Given the description of an element on the screen output the (x, y) to click on. 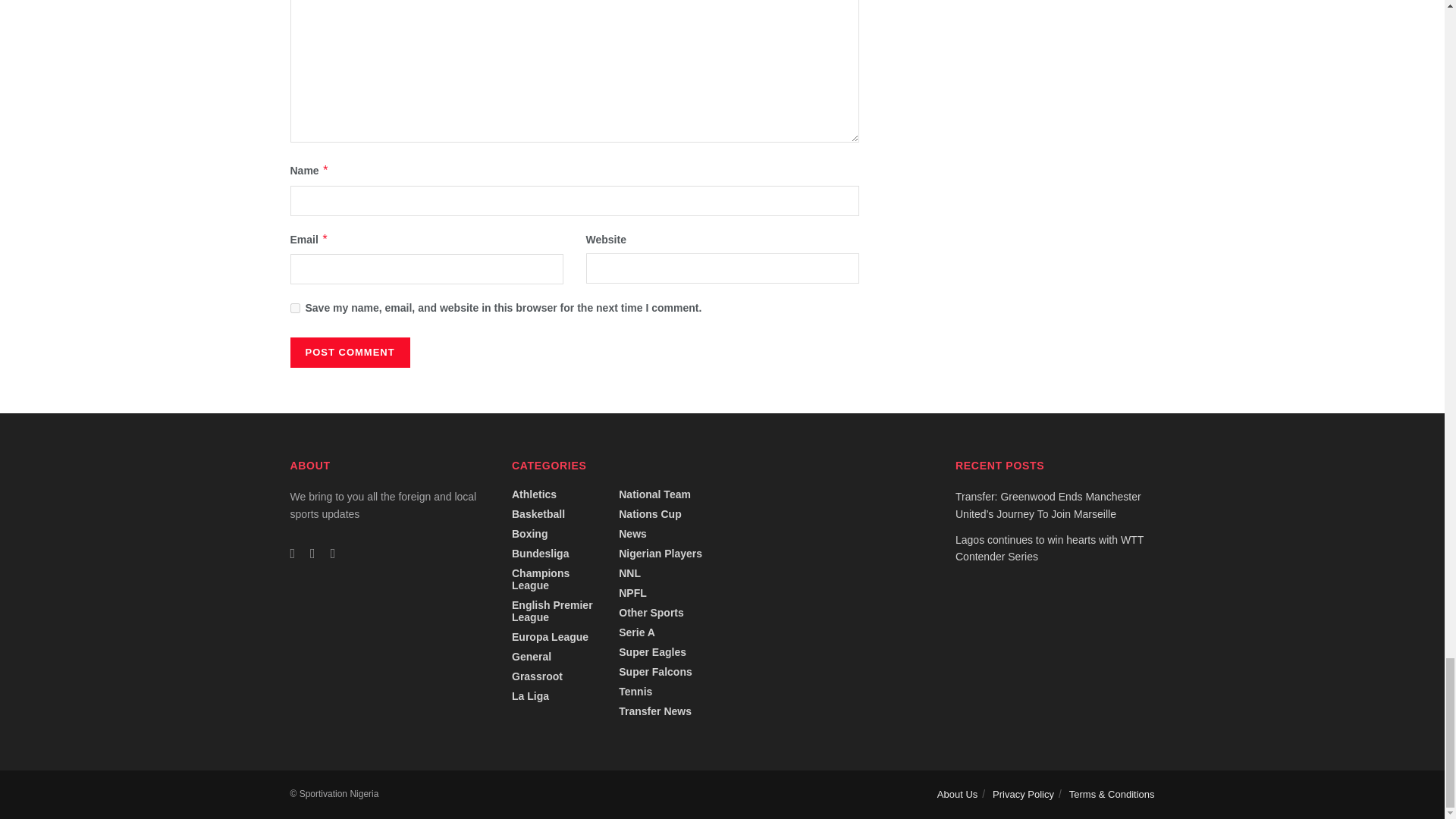
yes (294, 307)
Post Comment (349, 352)
